Given the description of an element on the screen output the (x, y) to click on. 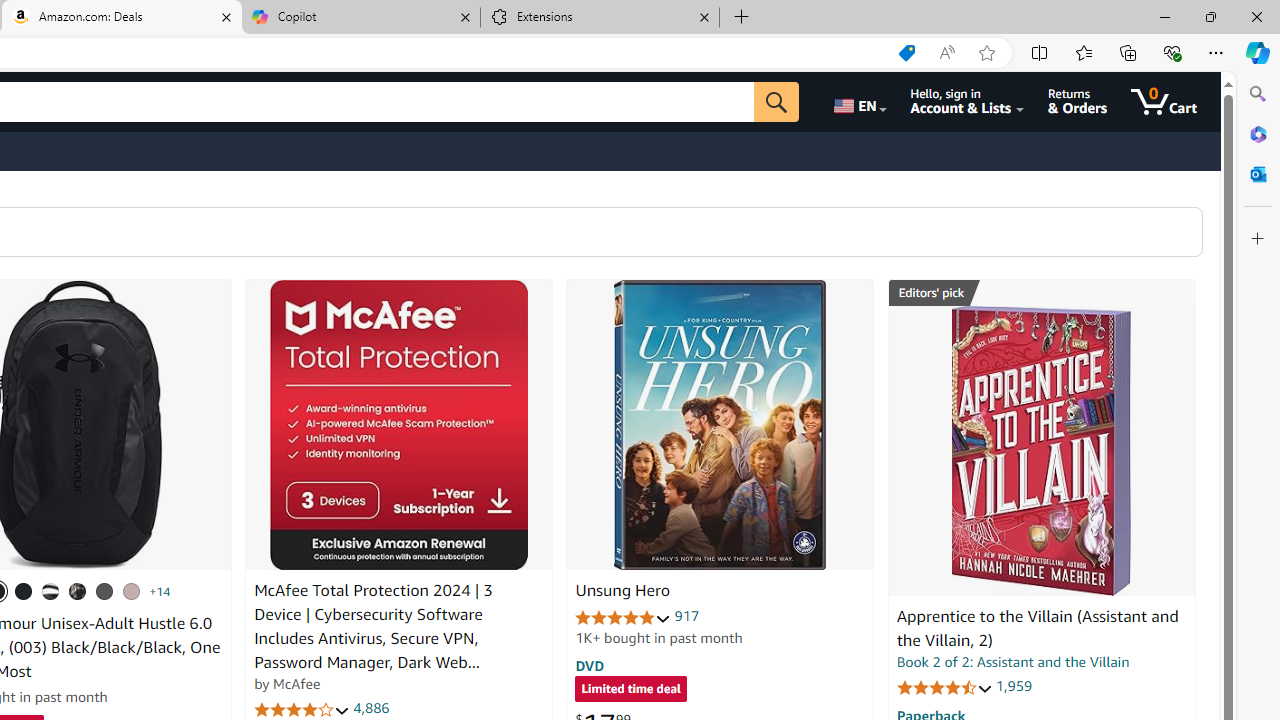
(005) Black Full Heather / Black / Metallic Gold (104, 591)
(004) Black / Black / Metallic Gold (78, 591)
Apprentice to the Villain (Assistant and the Villain, 2) (1037, 628)
1,959 (1013, 686)
Unsung Hero (622, 591)
DVD (589, 665)
Choose a language for shopping. (858, 101)
(002) Black / Black / White (51, 591)
Editors' pick Best Science Fiction & Fantasy (1041, 293)
Go (776, 101)
